Given the description of an element on the screen output the (x, y) to click on. 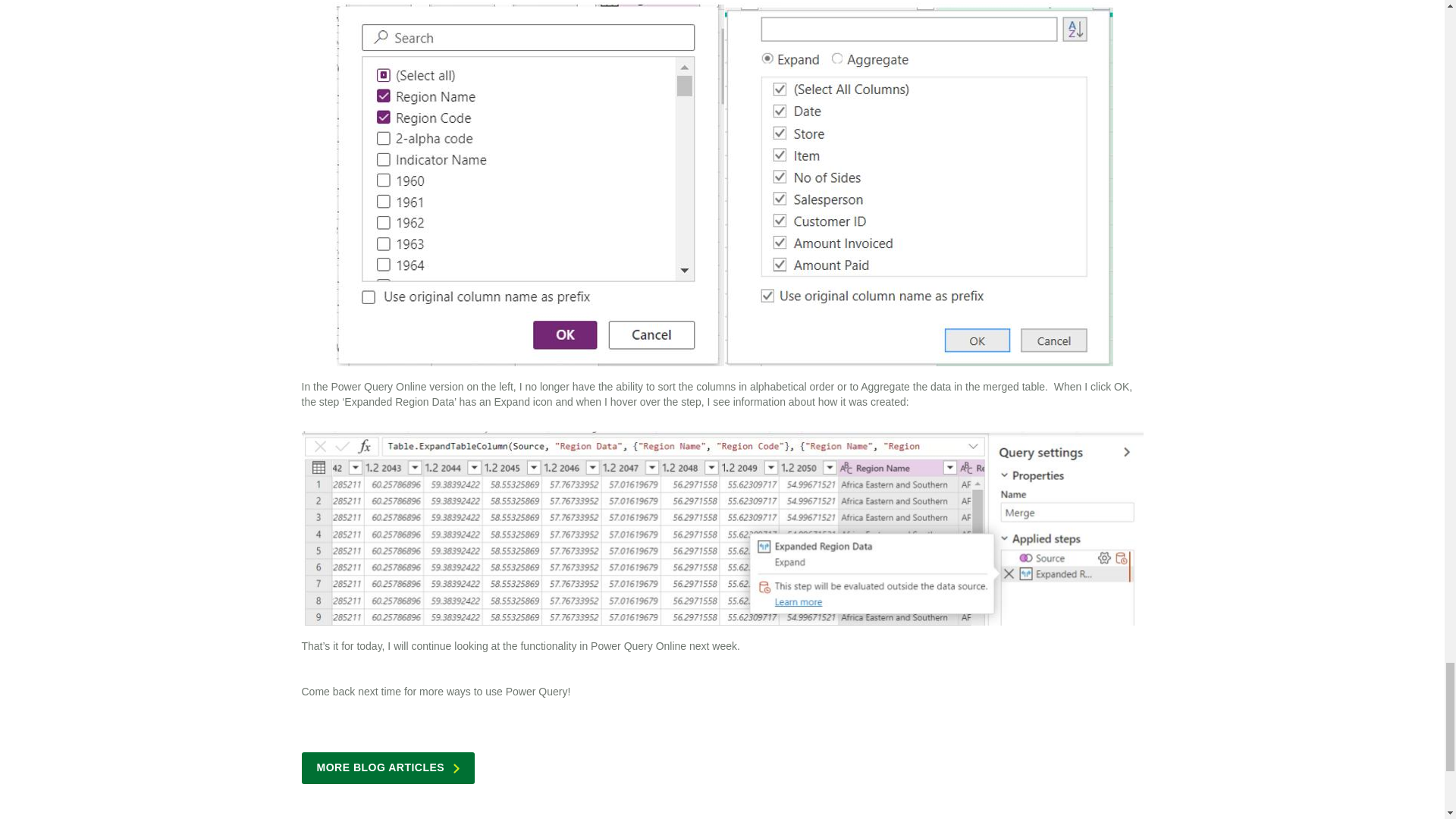
MORE BLOG ARTICLES (388, 767)
